Given the description of an element on the screen output the (x, y) to click on. 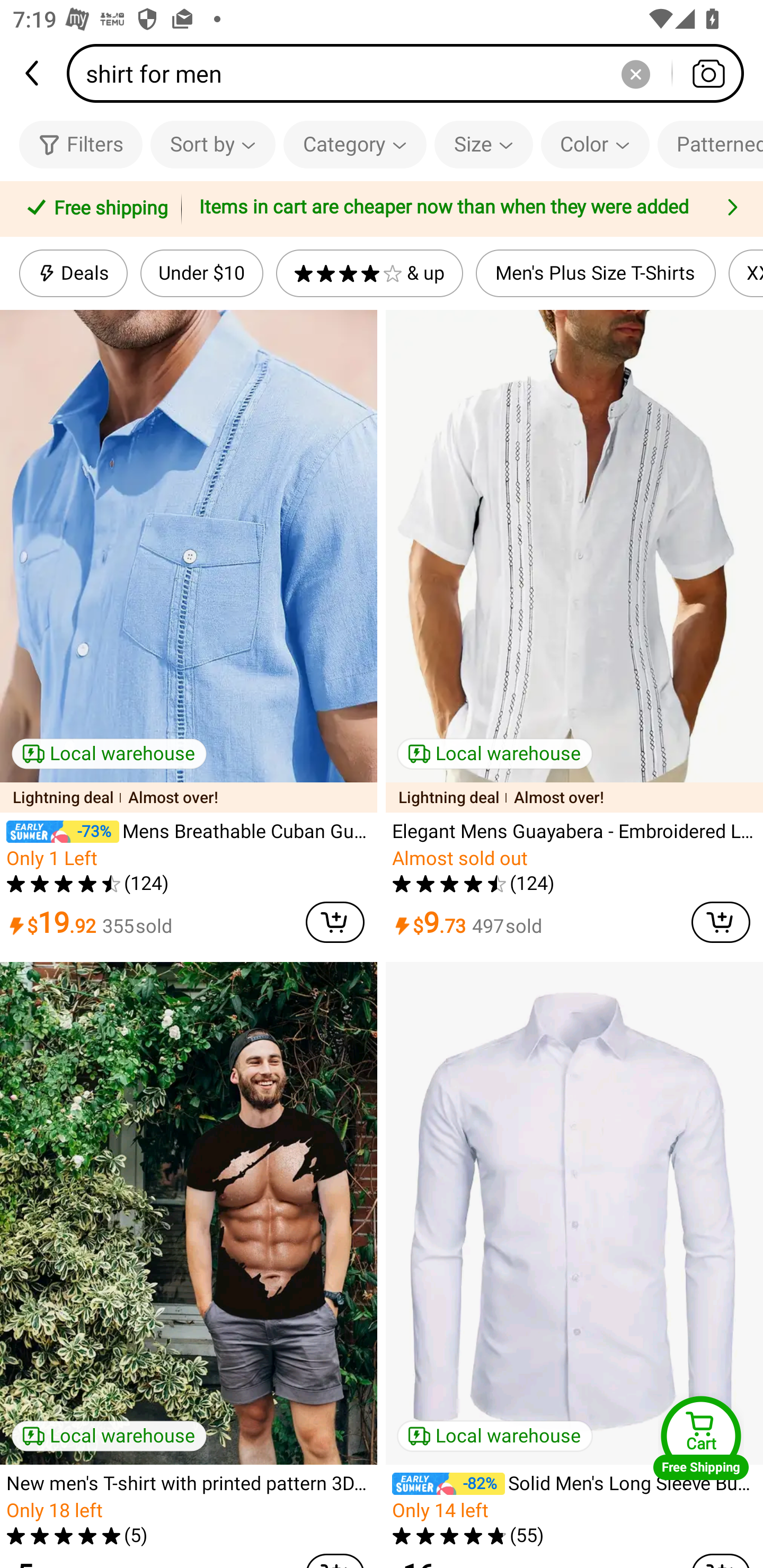
back (33, 72)
shirt for men (411, 73)
Delete search history (635, 73)
Search by photo (708, 73)
Filters (80, 143)
Sort by (212, 143)
Category (354, 143)
Size (483, 143)
Color (594, 143)
Patterned (710, 143)
 Free shipping (93, 208)
Deals (73, 273)
Under $10 (201, 273)
& up (369, 273)
Men's Plus Size T-Shirts (595, 273)
Cart Free Shipping Cart (701, 1437)
